Given the description of an element on the screen output the (x, y) to click on. 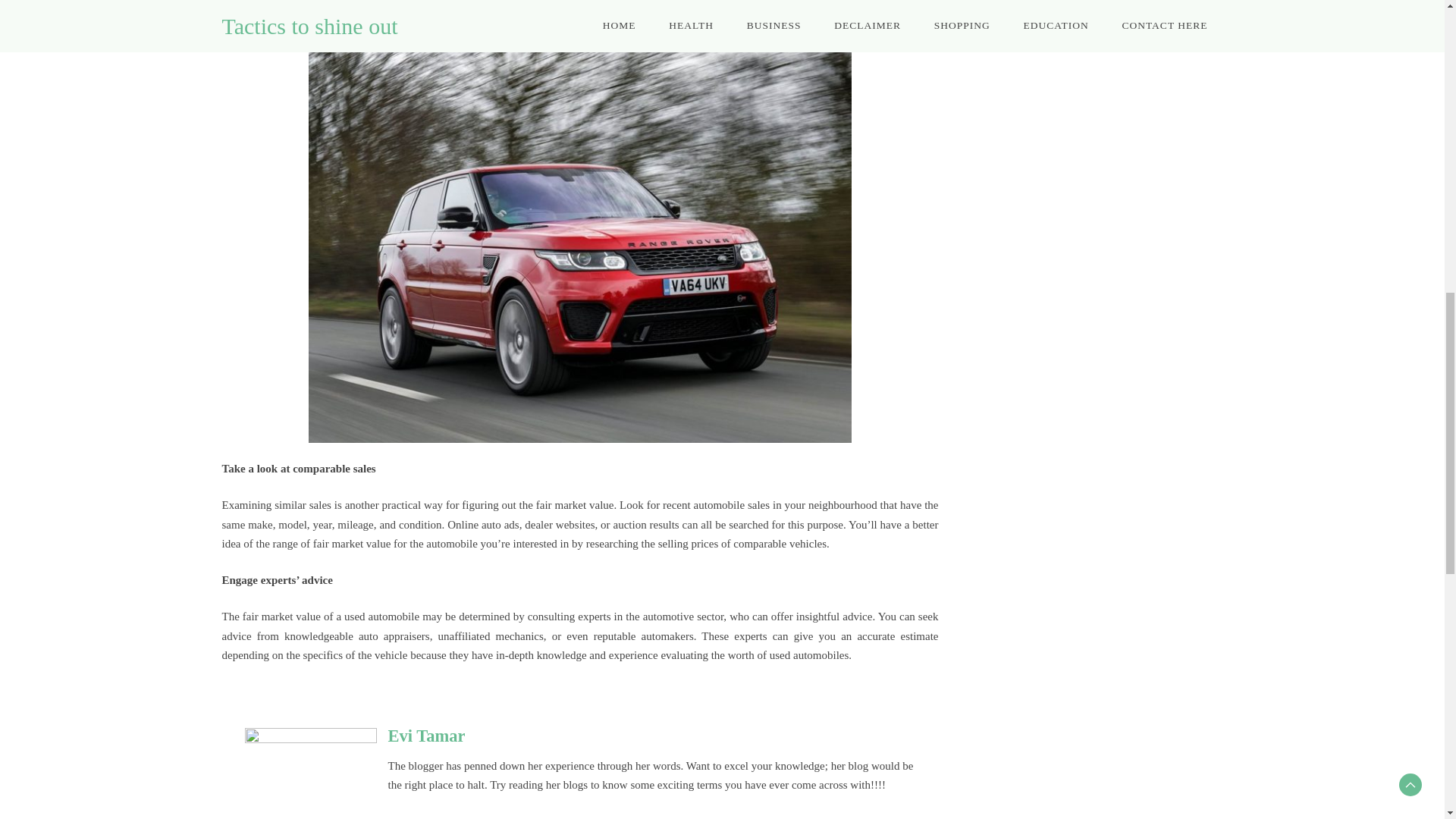
Evi Tamar (426, 735)
